Given the description of an element on the screen output the (x, y) to click on. 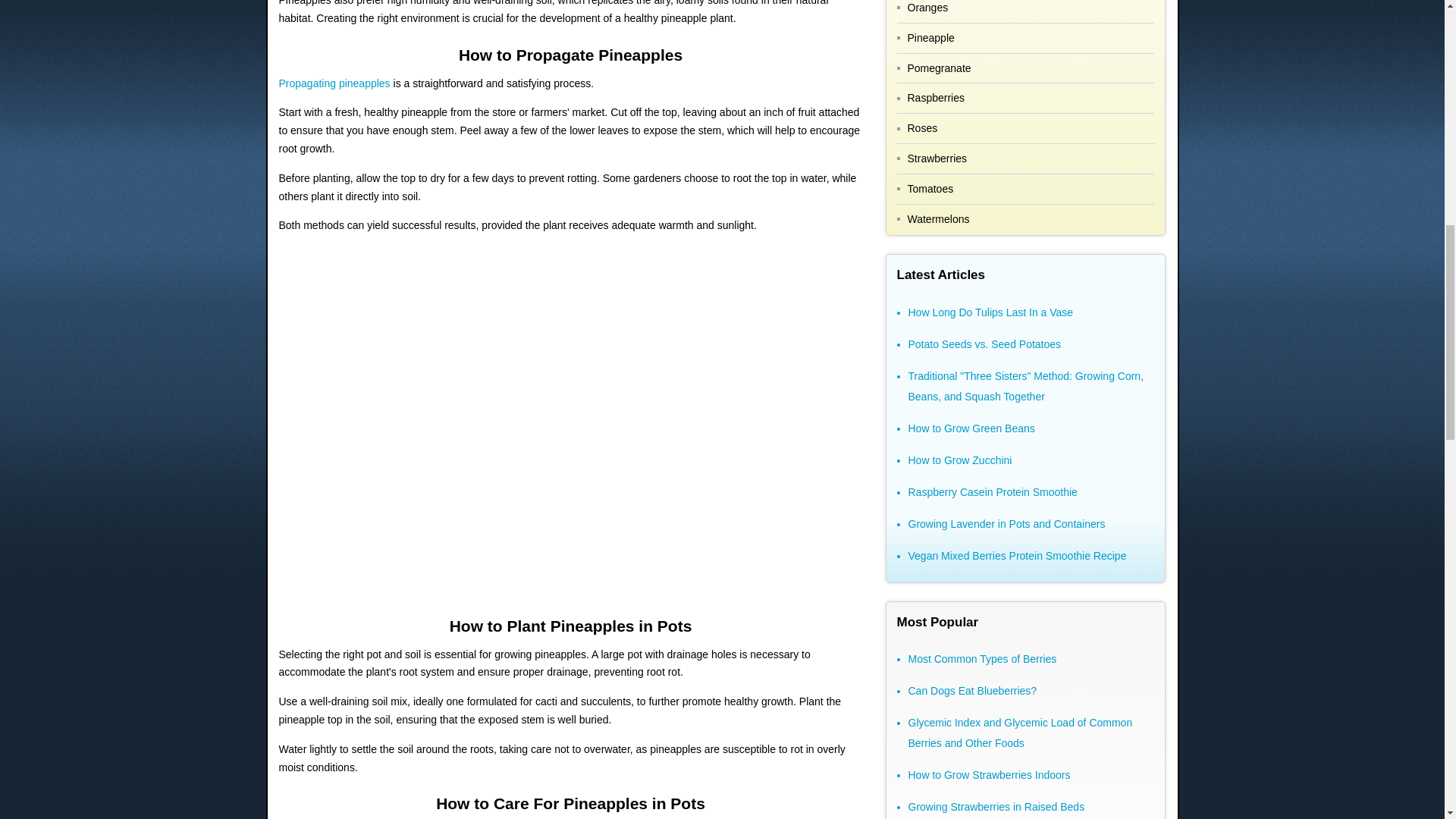
How To Propagate Pineapples (334, 82)
Propagating pineapples (334, 82)
